Given the description of an element on the screen output the (x, y) to click on. 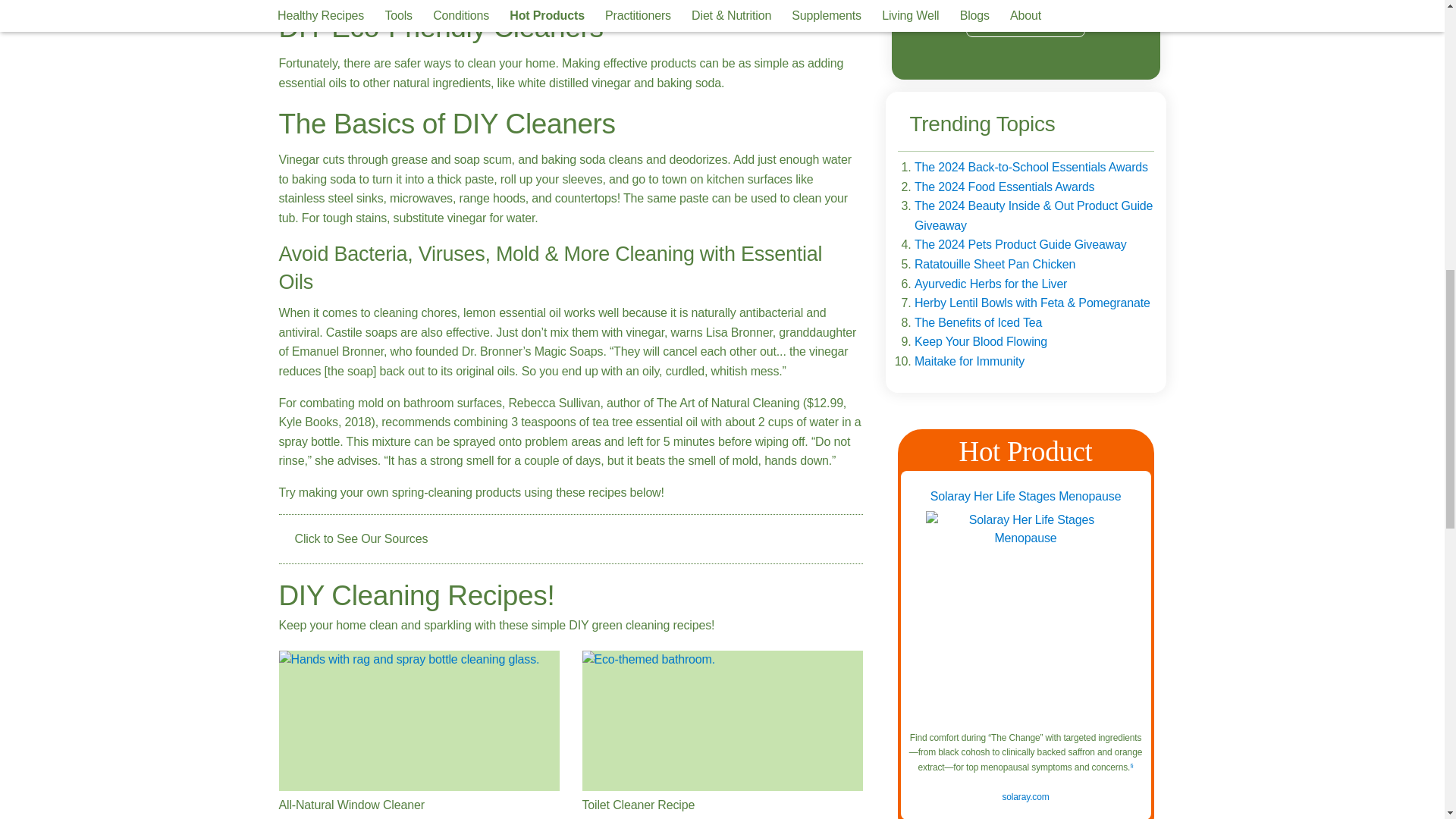
All-Natural Window Cleaner (419, 720)
Toilet Cleaner Recipe (722, 720)
